Given the description of an element on the screen output the (x, y) to click on. 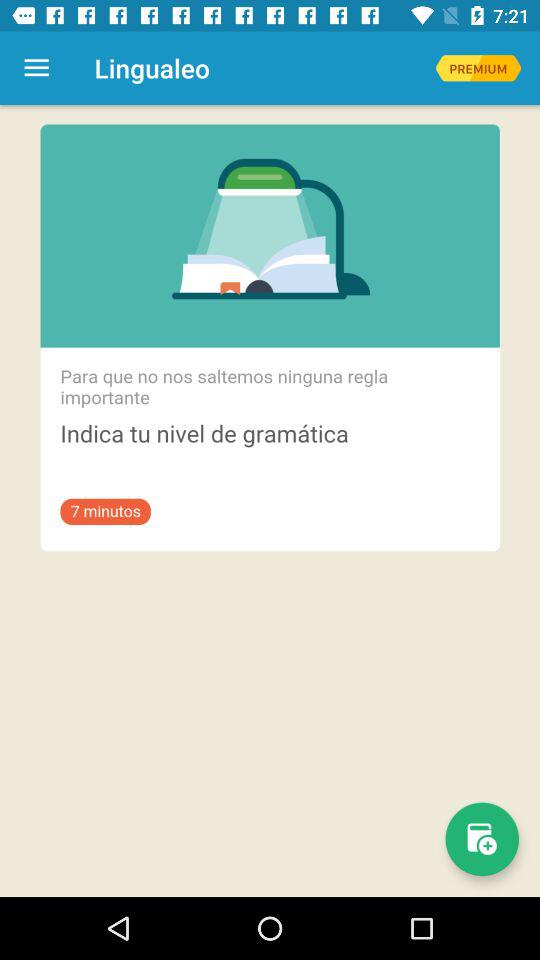
select option (478, 68)
